Given the description of an element on the screen output the (x, y) to click on. 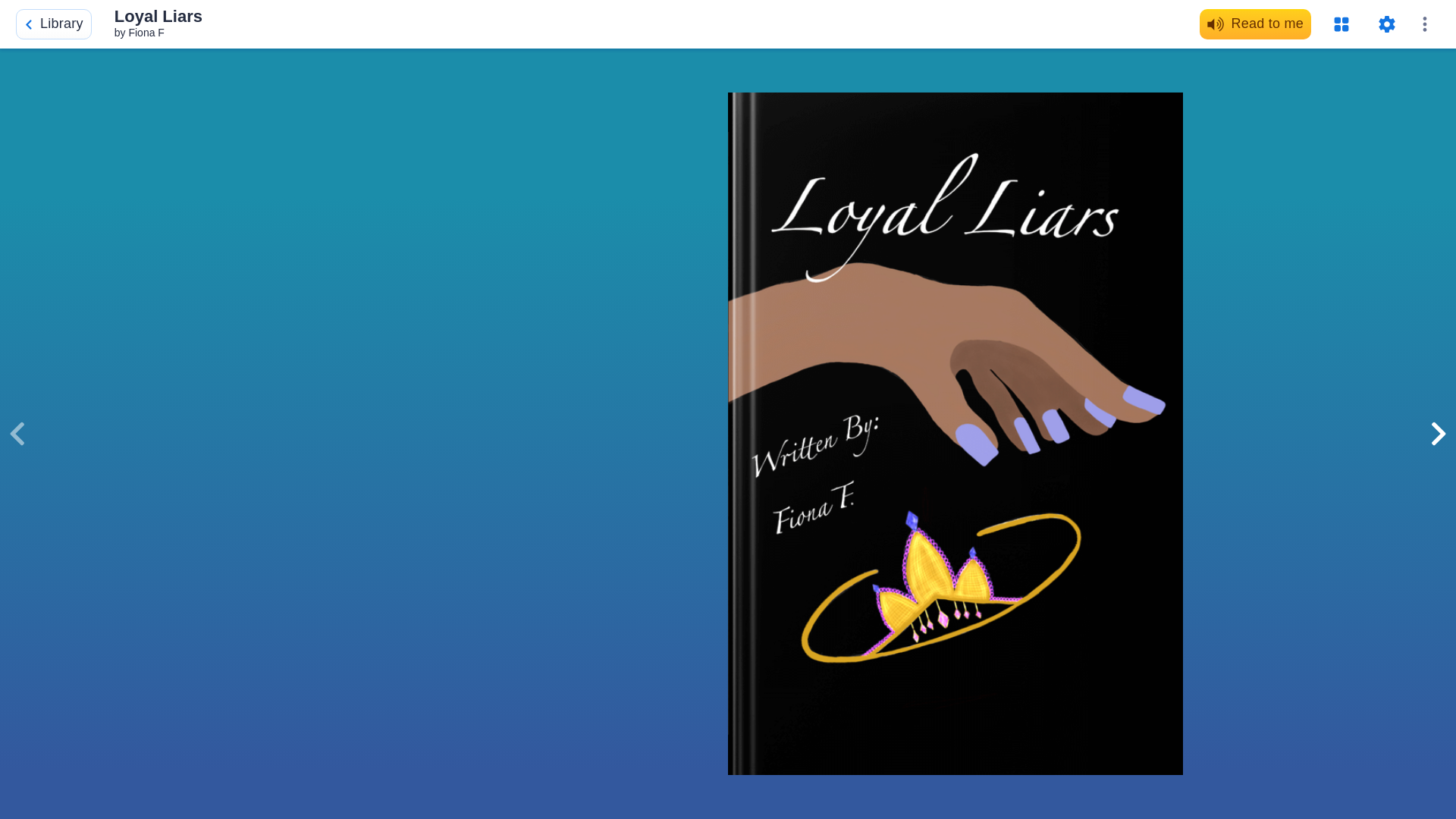
Library (53, 24)
Settings (1386, 24)
Read to me (1255, 24)
Menu (1424, 24)
Pages (1341, 24)
